Given the description of an element on the screen output the (x, y) to click on. 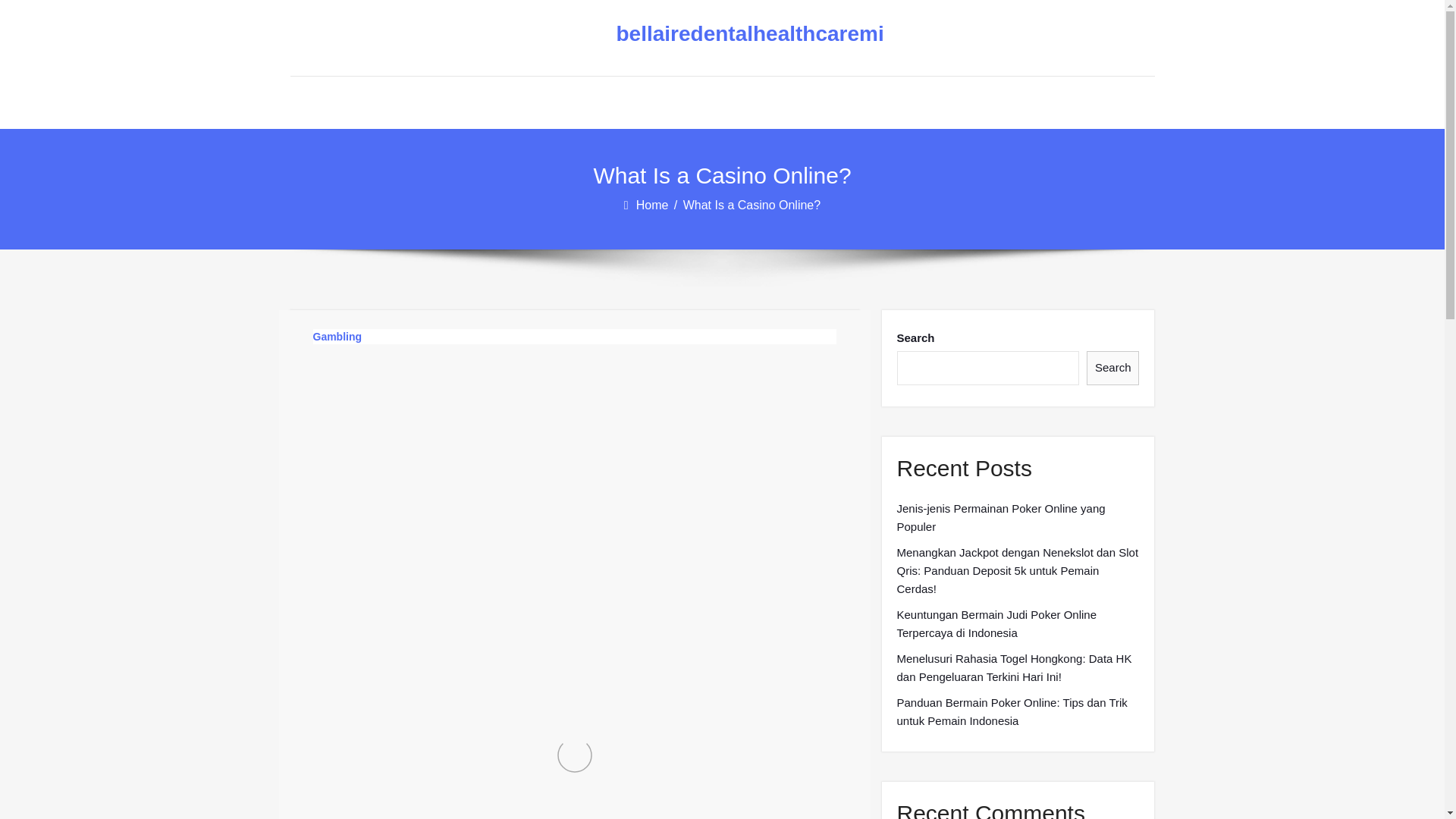
20Juli2022 (366, 402)
Gambling (337, 336)
Home (653, 205)
June 1, 2023 (464, 402)
Jenis-jenis Permainan Poker Online yang Populer (1017, 517)
Keuntungan Bermain Judi Poker Online Terpercaya di Indonesia (1017, 624)
Search (1113, 367)
bellairedentalhealthcaremi (710, 34)
